Given the description of an element on the screen output the (x, y) to click on. 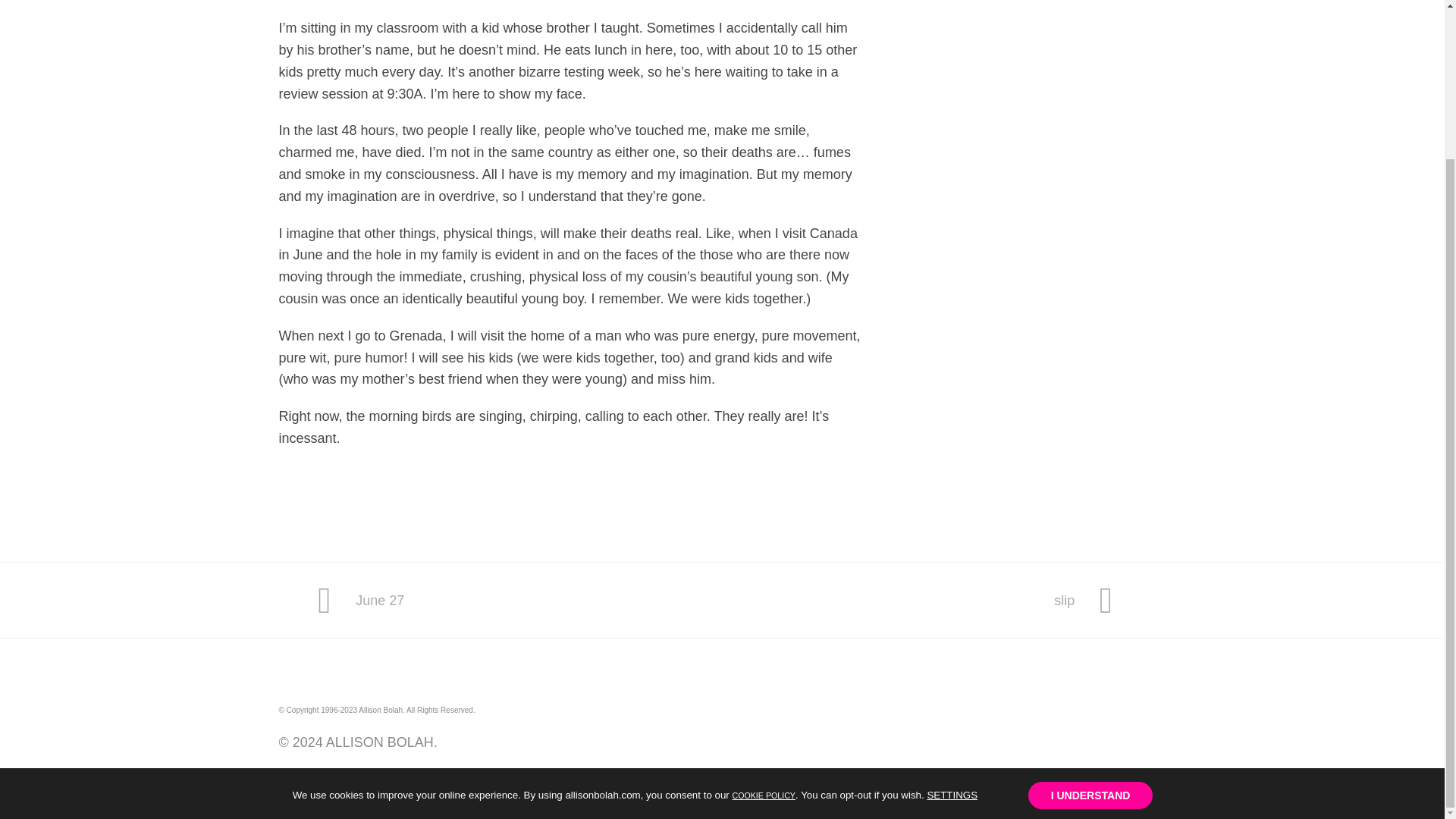
SETTINGS (951, 608)
COOKIE POLICY (763, 606)
I UNDERSTAND (361, 600)
